Given the description of an element on the screen output the (x, y) to click on. 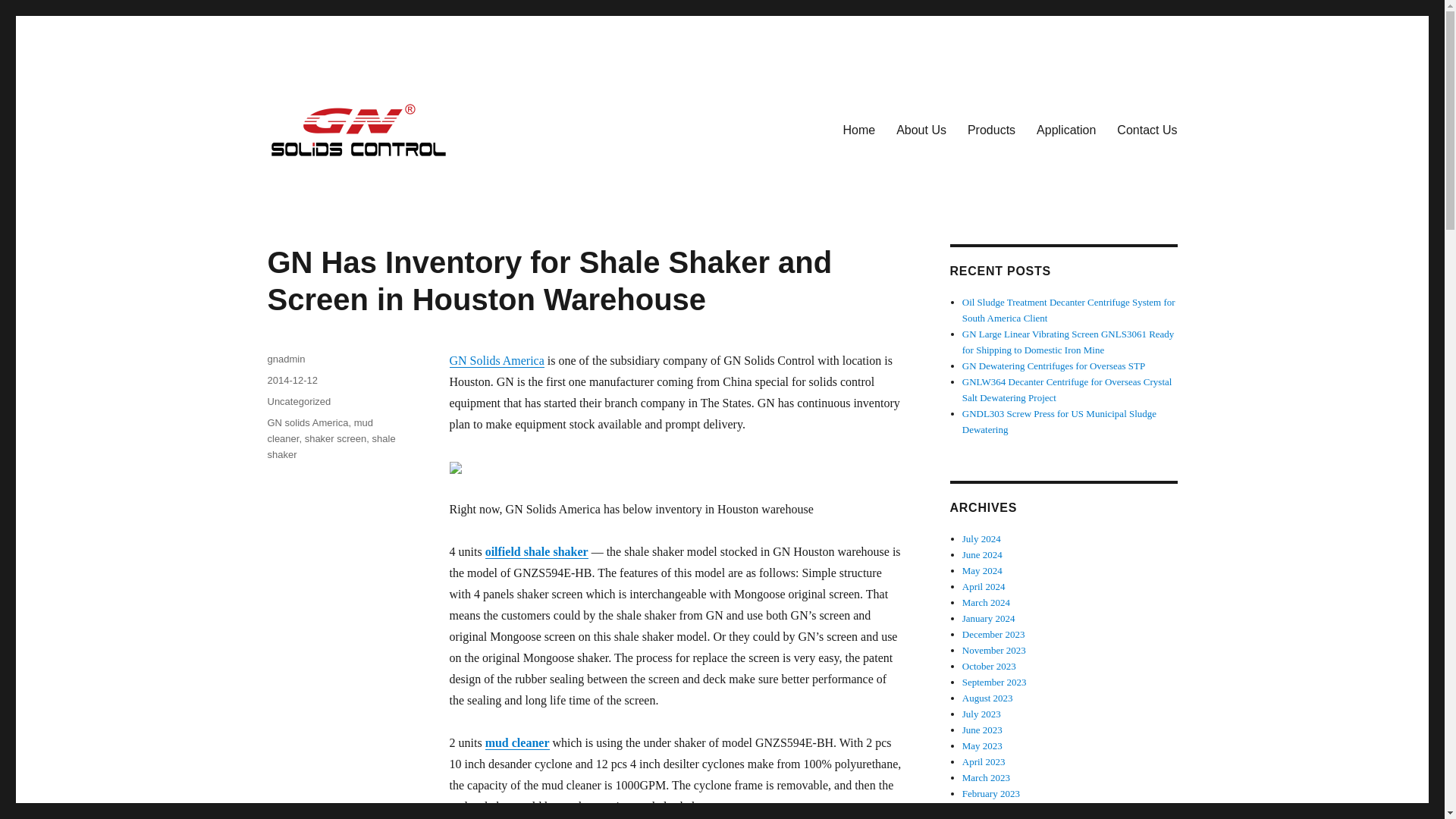
May 2024 (982, 570)
Mud Cleaner (517, 742)
Application (1066, 129)
June 2024 (982, 554)
December 2023 (993, 633)
shaker screen (335, 438)
2014-12-12 (291, 379)
January 2024 (988, 618)
GN Decanter Centrifuge (386, 182)
November 2023 (994, 650)
mud cleaner (517, 742)
GN solids America (306, 422)
